Given the description of an element on the screen output the (x, y) to click on. 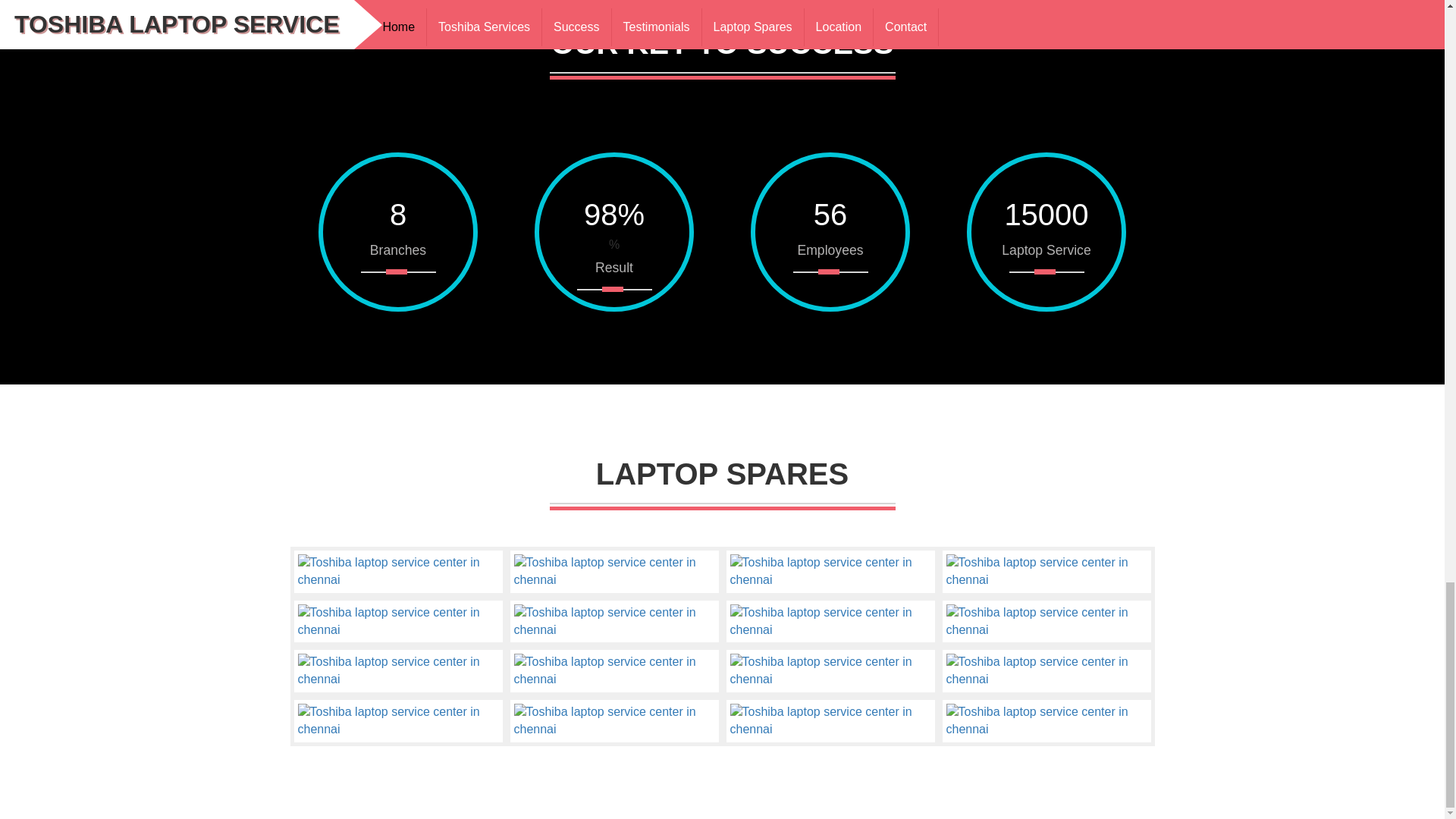
Authorized Toshiba laptop service center in chennai (613, 621)
Authorized Toshiba laptop service center in chennai (397, 621)
Authorized Toshiba laptop service center in chennai (829, 571)
Authorized Toshiba laptop service center in chennai (1046, 571)
56 (830, 214)
Authorized Toshiba laptop service center in chennai (397, 720)
Authorized Toshiba laptop service center in chennai (613, 571)
15000 (1046, 214)
Authorized Toshiba laptop service center in chennai (1046, 670)
8 (398, 214)
Authorized Toshiba laptop service center in chennai (829, 670)
Authorized Toshiba laptop service center in chennai (1046, 621)
Authorized Toshiba laptop service center in chennai (397, 571)
Authorized Toshiba laptop service center in chennai (829, 621)
Authorized Toshiba laptop service center in chennai (613, 670)
